Given the description of an element on the screen output the (x, y) to click on. 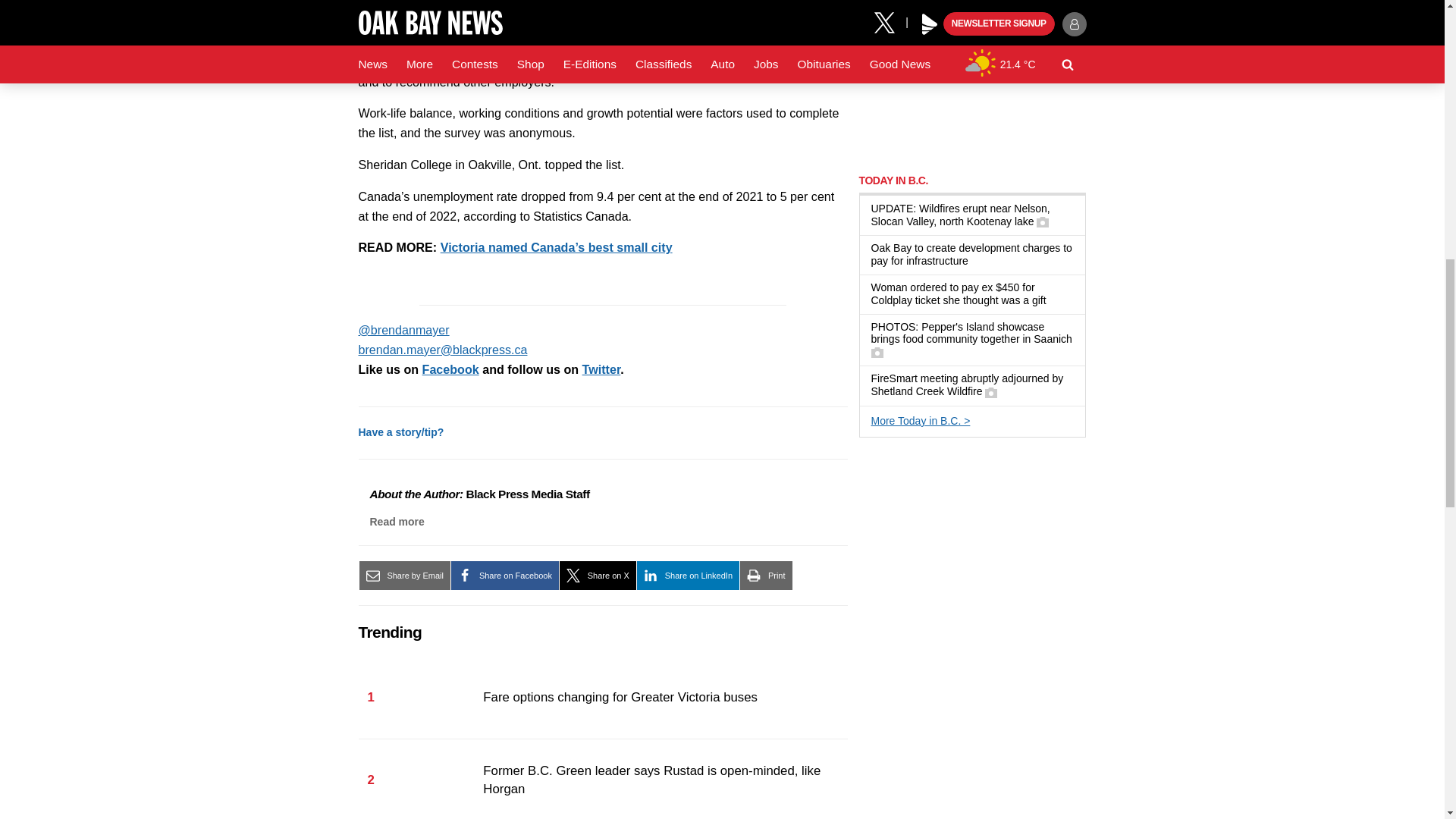
Has a gallery (1042, 222)
Has a gallery (876, 352)
Has a gallery (991, 392)
